Given the description of an element on the screen output the (x, y) to click on. 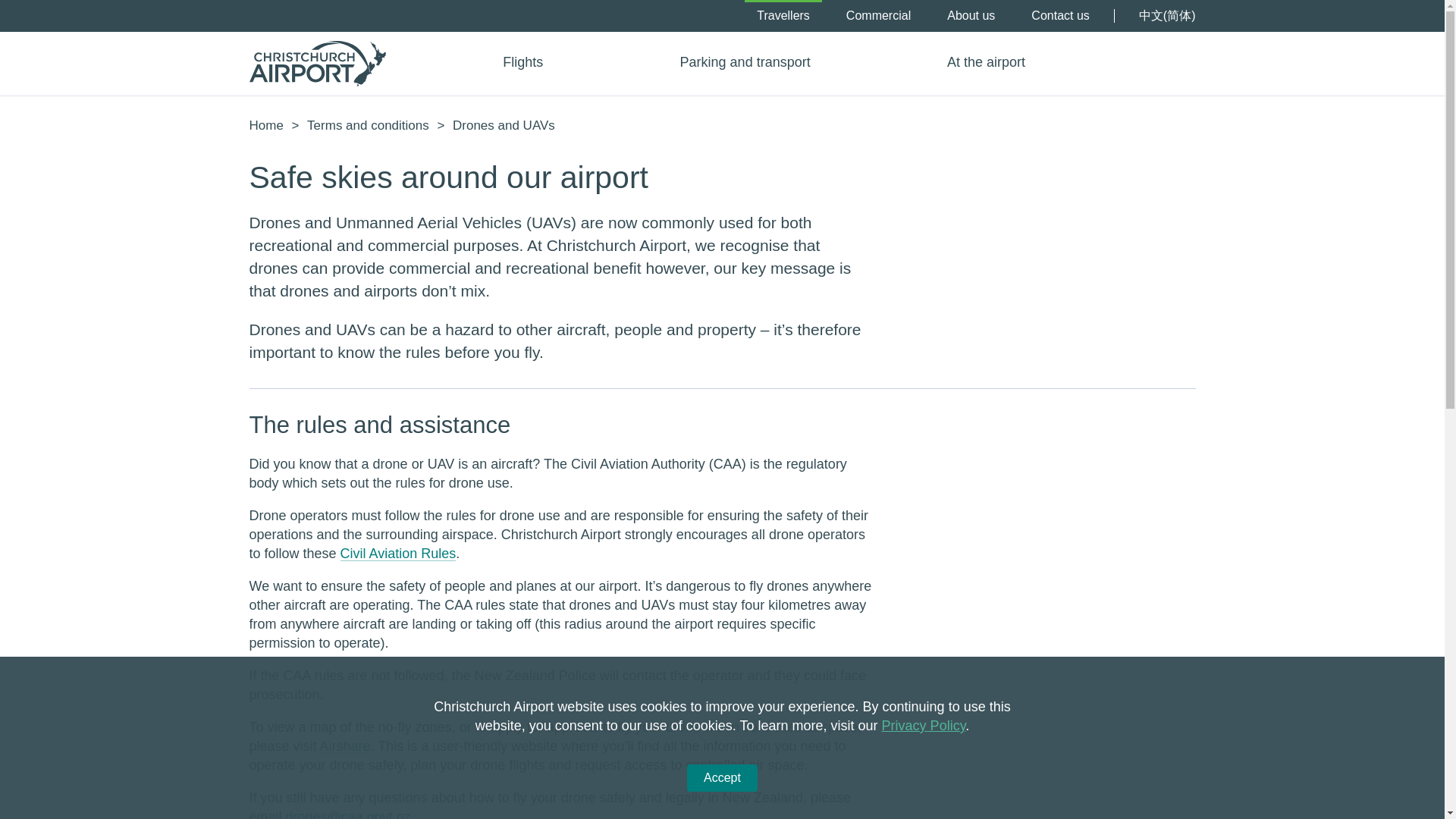
Parking and transport (757, 61)
Airshare (345, 745)
Drones email (347, 814)
Civil Aviation Rules (398, 553)
Travellers (783, 15)
Flights (534, 61)
At the airport (997, 61)
